Given the description of an element on the screen output the (x, y) to click on. 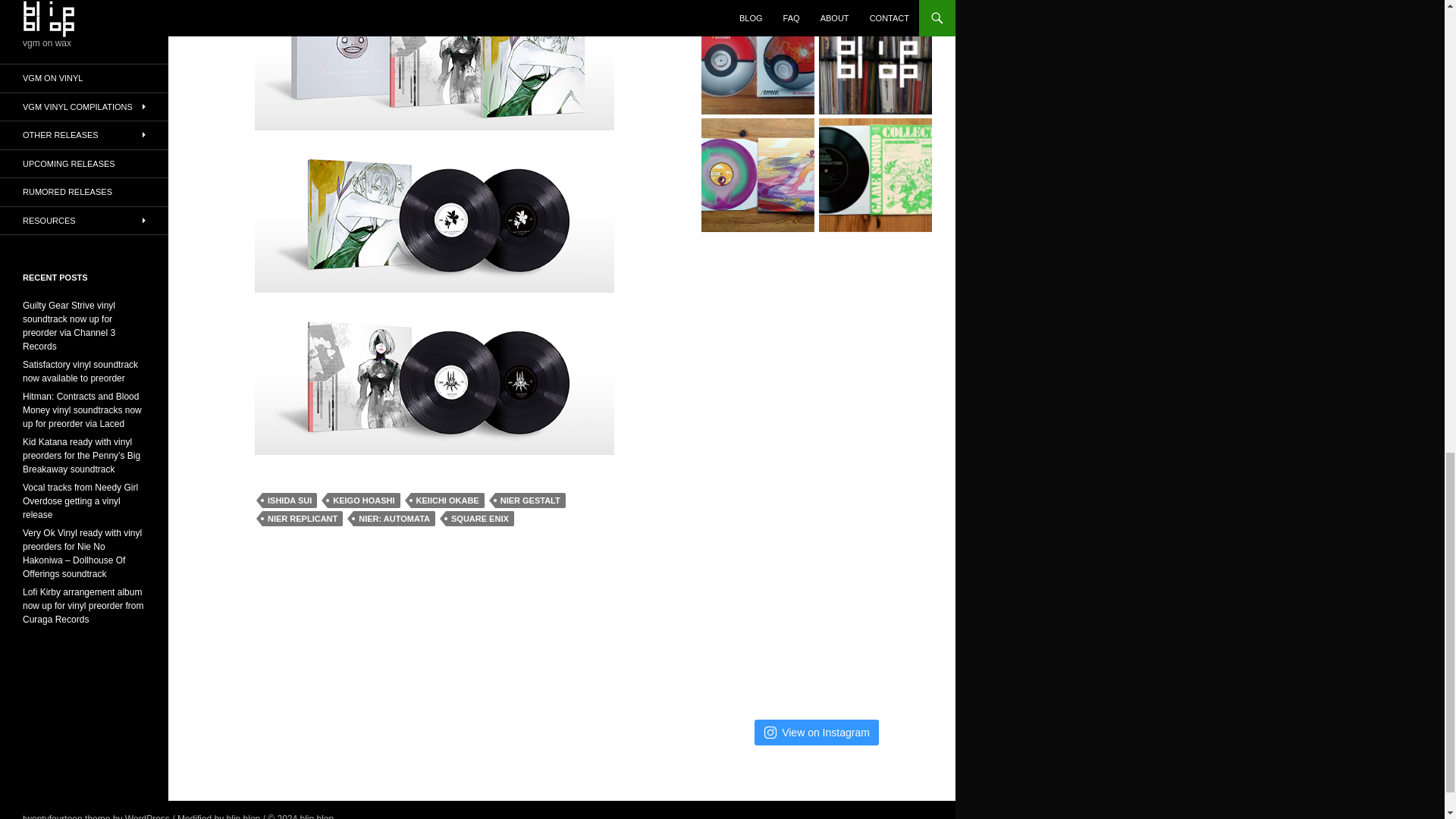
KEIGO HOASHI (362, 500)
NIER: AUTOMATA (394, 518)
KEIICHI OKABE (447, 500)
NIER GESTALT (530, 500)
ISHIDA SUI (289, 500)
NIER REPLICANT (302, 518)
SQUARE ENIX (479, 518)
